Given the description of an element on the screen output the (x, y) to click on. 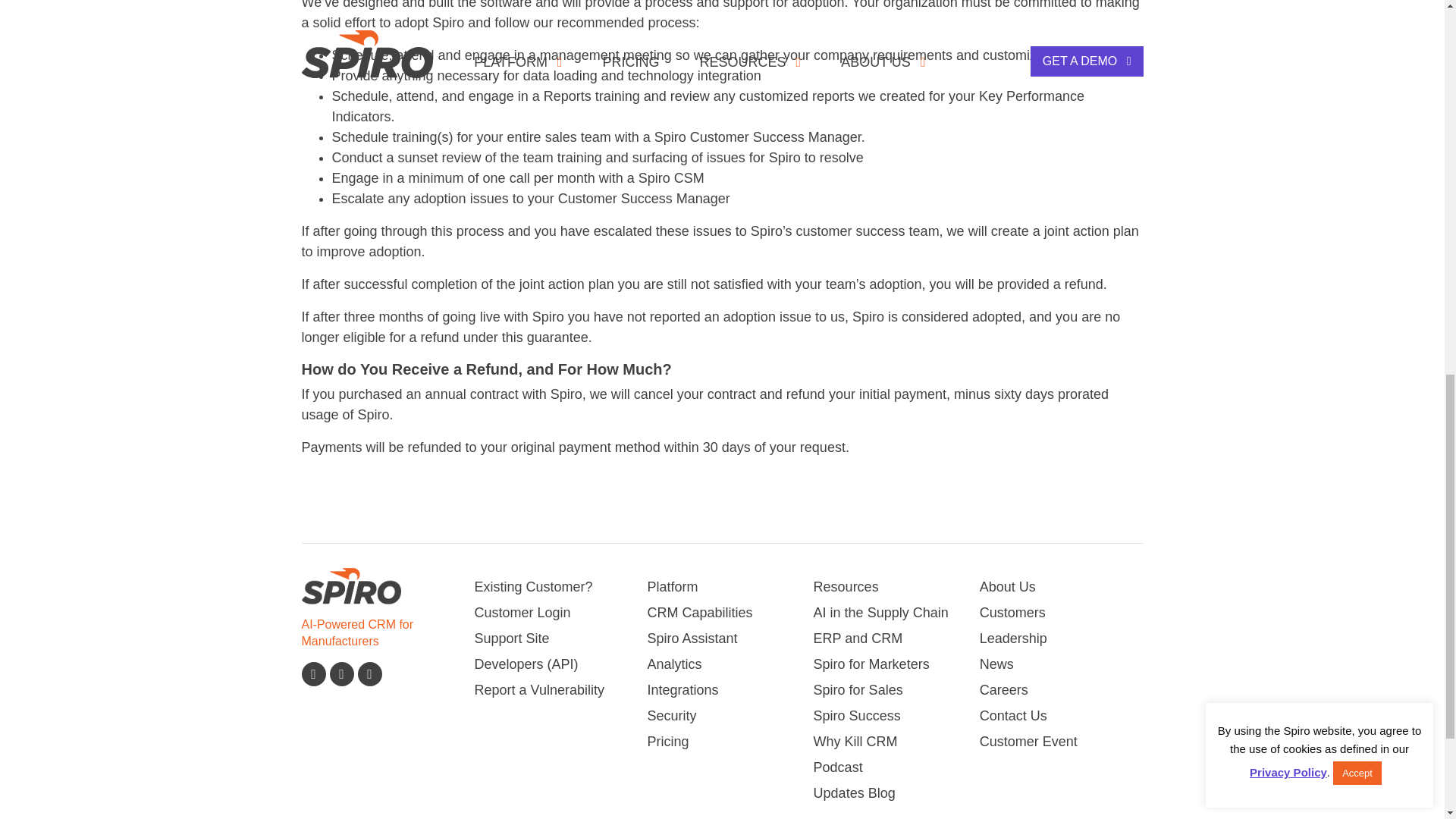
Analytics (728, 663)
Security (728, 715)
Platform (728, 586)
Spiro Assistant (728, 638)
Customer Login (549, 612)
CRM Capabilities (728, 612)
Support Site (549, 638)
Report a Vulnerability (549, 689)
Integrations (728, 689)
